Given the description of an element on the screen output the (x, y) to click on. 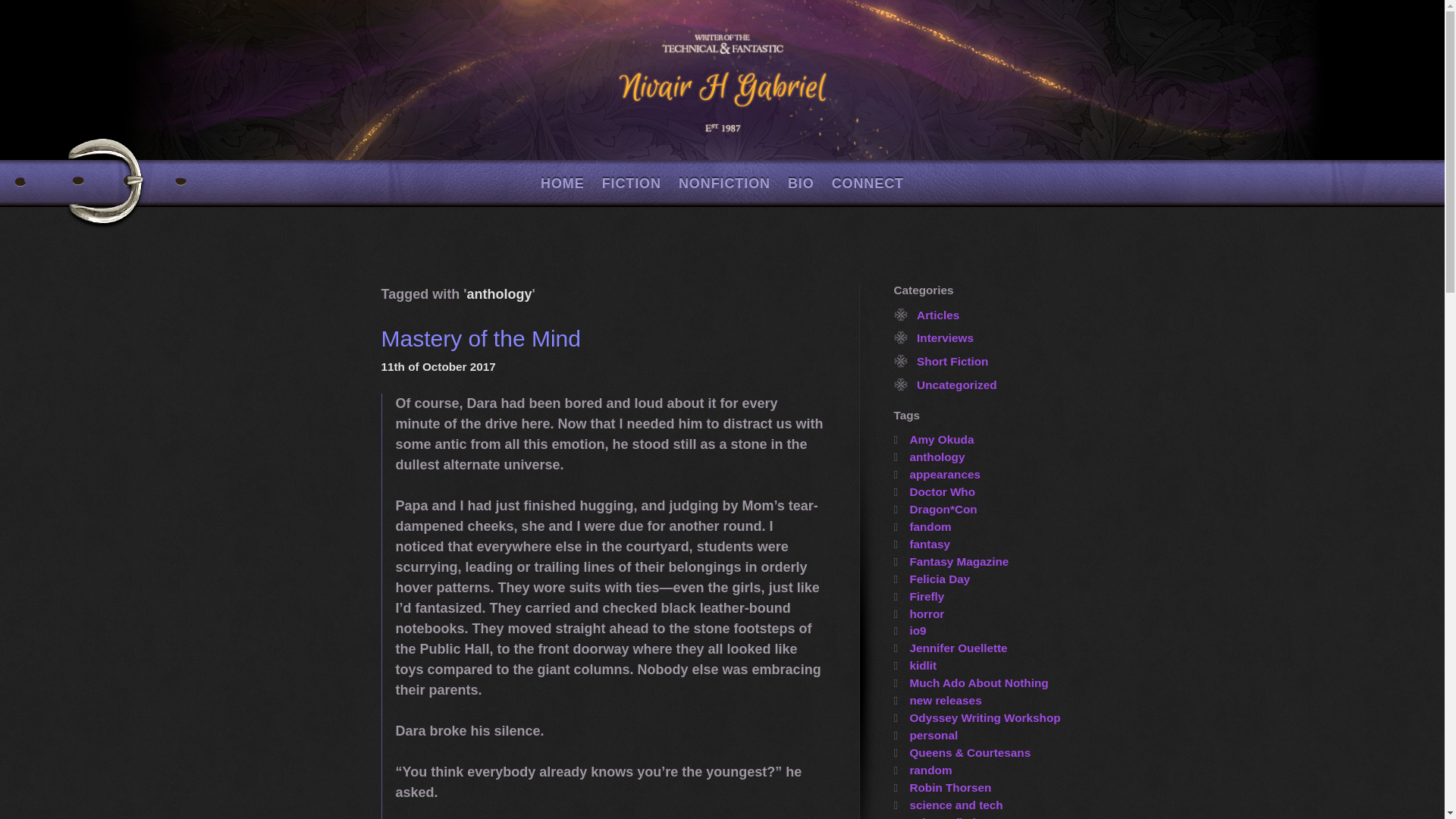
Short Fiction (952, 360)
Amy Okuda (933, 439)
Doctor Who (934, 491)
Mastery of the Mind (479, 338)
fiction (631, 183)
Nivair.com - Home (721, 82)
horror (918, 613)
Articles (938, 314)
io9 (909, 630)
Firefly (918, 595)
